Given the description of an element on the screen output the (x, y) to click on. 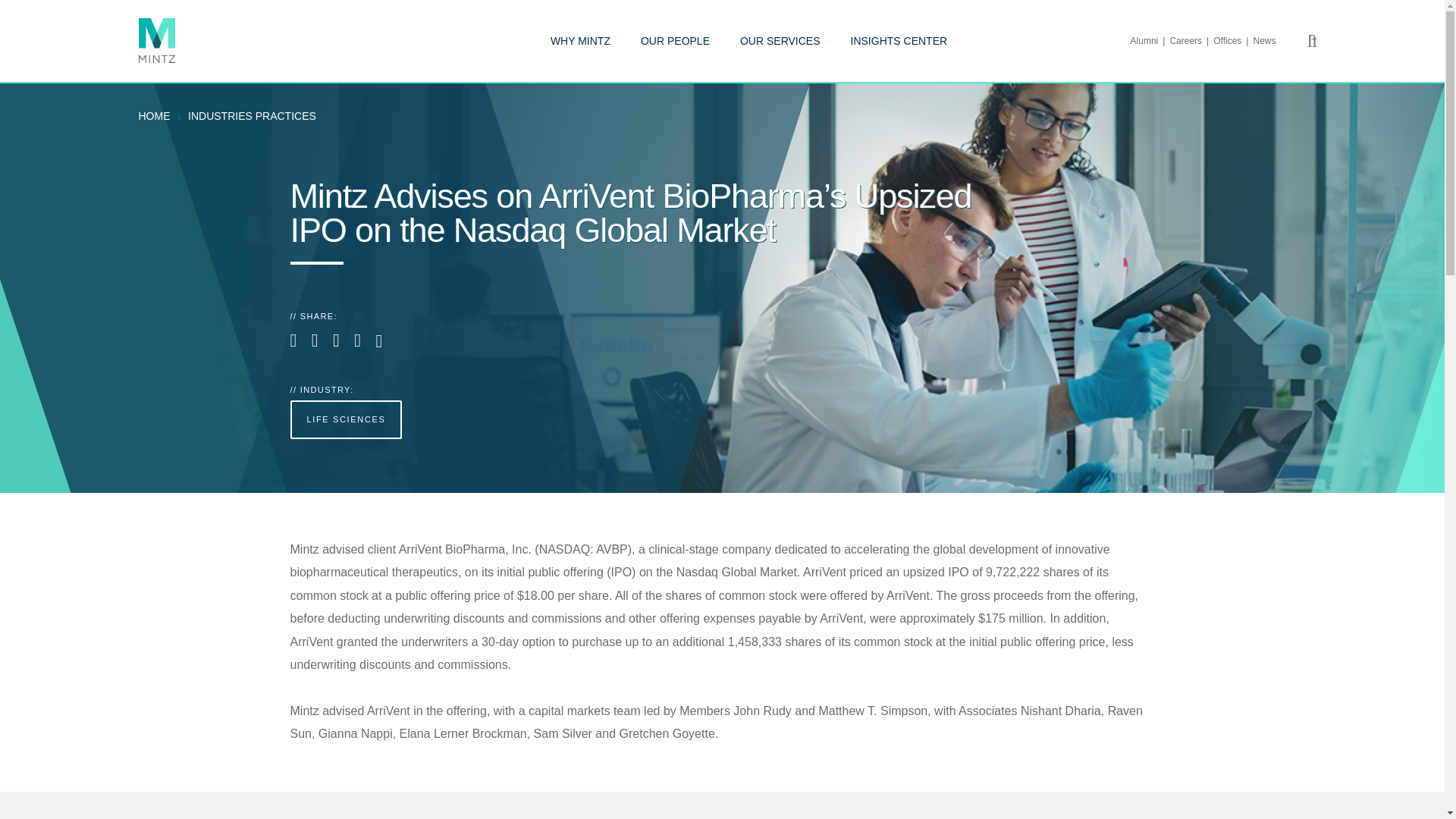
INDUSTRIES PRACTICES (251, 115)
News (1263, 40)
Careers (1190, 40)
Alumni (1150, 40)
Offices (1232, 40)
OUR SERVICES (780, 40)
WHY MINTZ (580, 40)
INSIGHTS CENTER (898, 40)
LIFE SCIENCES (345, 419)
OUR PEOPLE (675, 40)
